Given the description of an element on the screen output the (x, y) to click on. 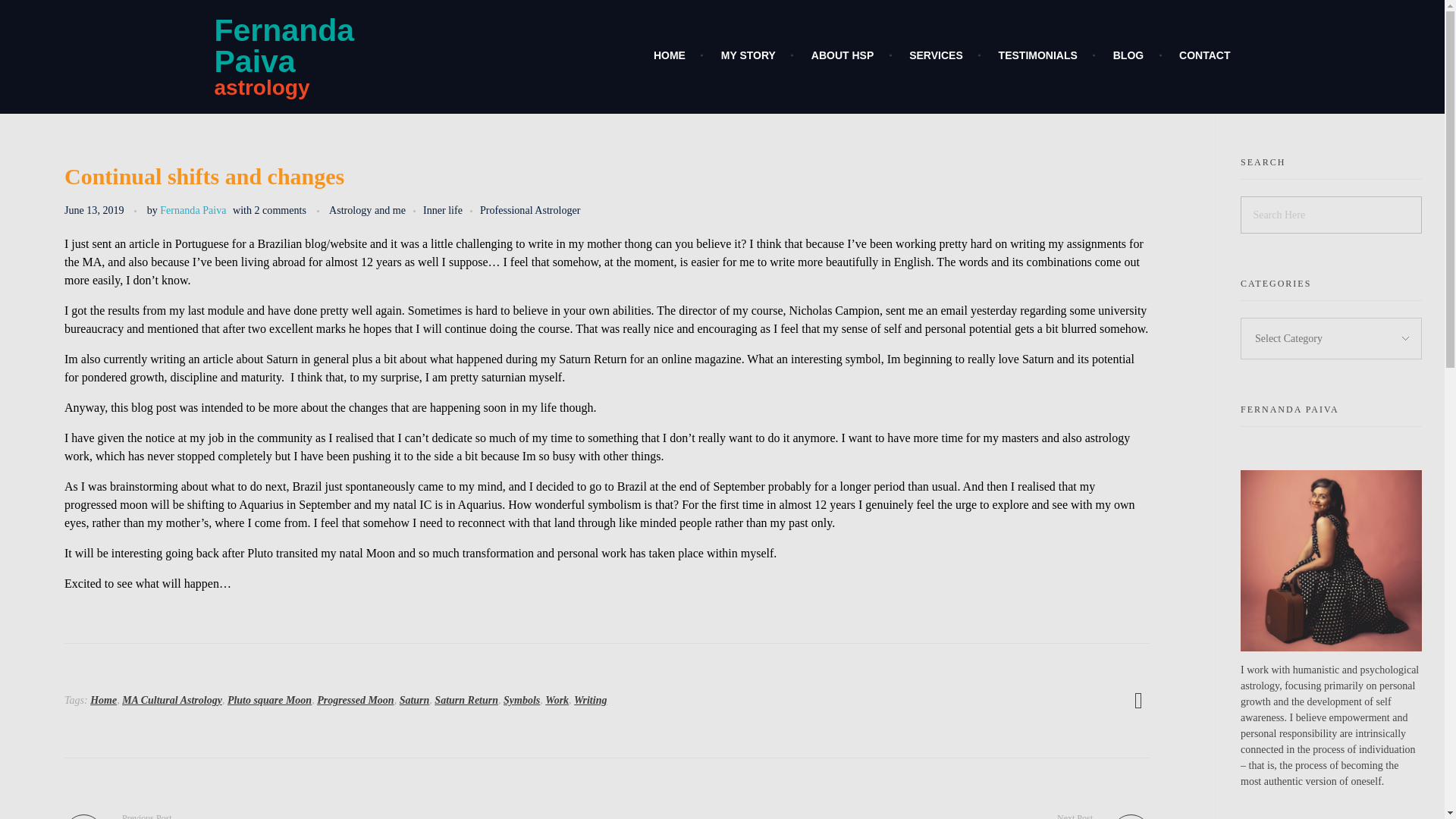
Fernanda Paiva (192, 209)
TESTIMONIALS (1025, 55)
Saturn Return (465, 699)
Writing (590, 699)
View all posts in Inner life (451, 210)
View all posts in Astrology and me (376, 210)
astrology (261, 87)
Inner life (451, 210)
Search (42, 13)
Fernanda Paiva (283, 45)
Saturn (413, 699)
View all posts by Fernanda Paiva (192, 209)
Symbols (885, 815)
Home (521, 699)
